Given the description of an element on the screen output the (x, y) to click on. 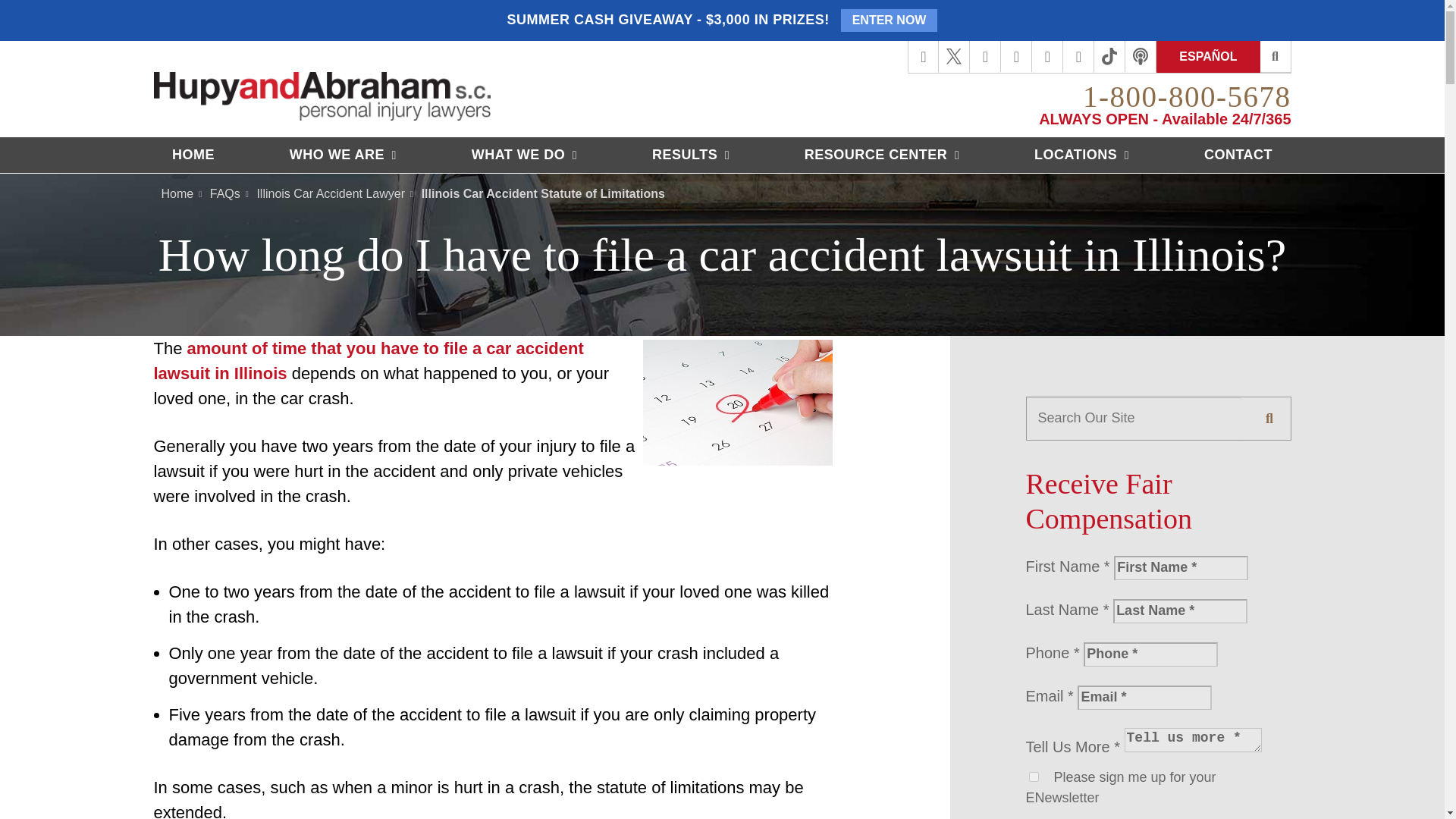
WHAT WE DO (523, 154)
Pinterest (1078, 55)
LinkedIn (1016, 55)
1-800-800-5678 (1186, 96)
Search (1275, 56)
Please sign me up for your ENewsletter (1032, 777)
Facebook (923, 55)
WHO WE ARE (342, 154)
Instagram (985, 55)
Search (1269, 418)
YouTube (1047, 55)
HOME (193, 154)
ENTER NOW (889, 20)
